Given the description of an element on the screen output the (x, y) to click on. 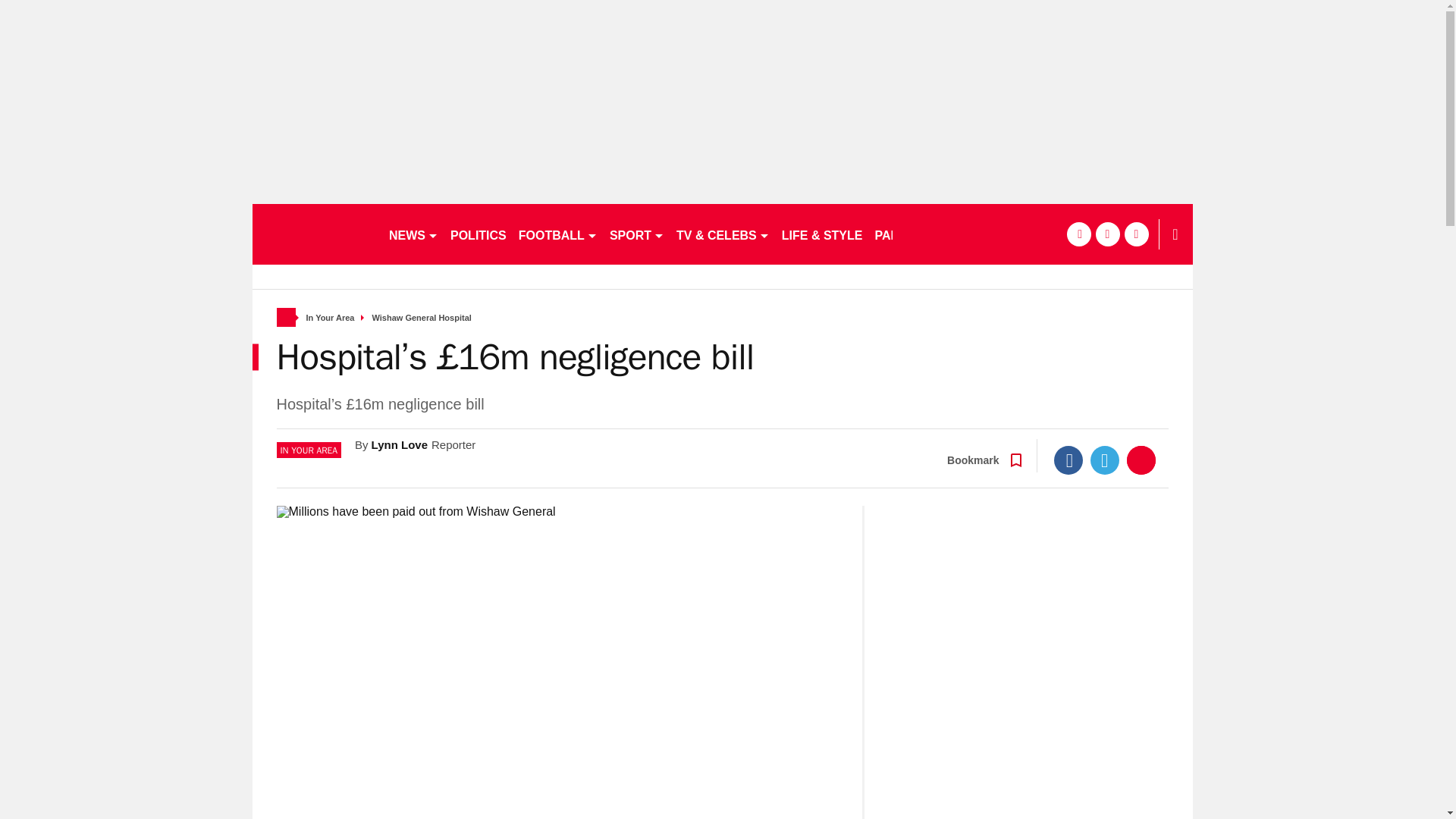
dailyrecord (313, 233)
SPORT (636, 233)
twitter (1106, 233)
Twitter (1104, 460)
instagram (1136, 233)
POLITICS (478, 233)
FOOTBALL (558, 233)
facebook (1077, 233)
NEWS (413, 233)
Facebook (1068, 460)
